Given the description of an element on the screen output the (x, y) to click on. 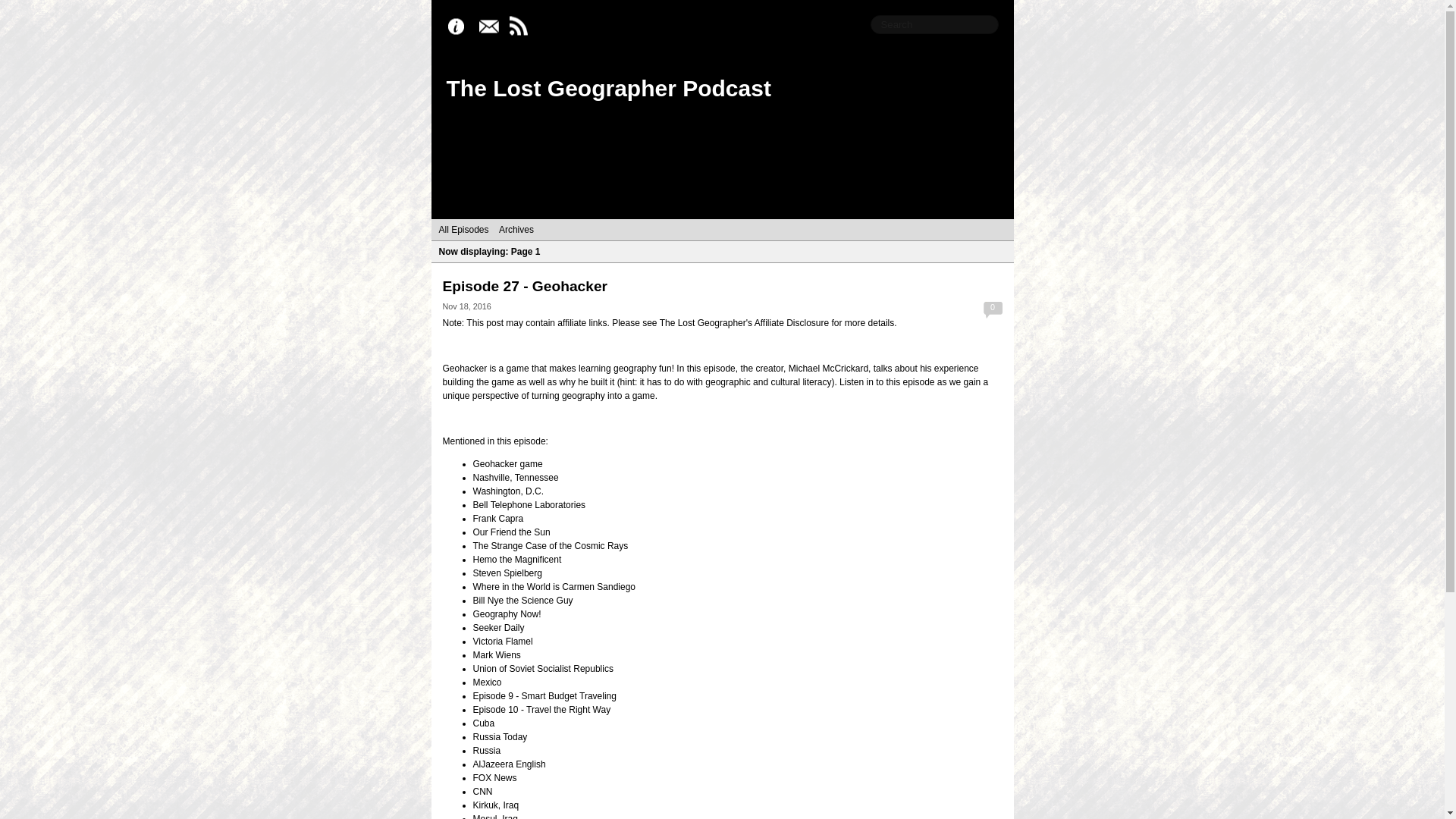
Email (491, 26)
RSS Feed (521, 26)
The Lost Geographer Podcast (607, 88)
